Given the description of an element on the screen output the (x, y) to click on. 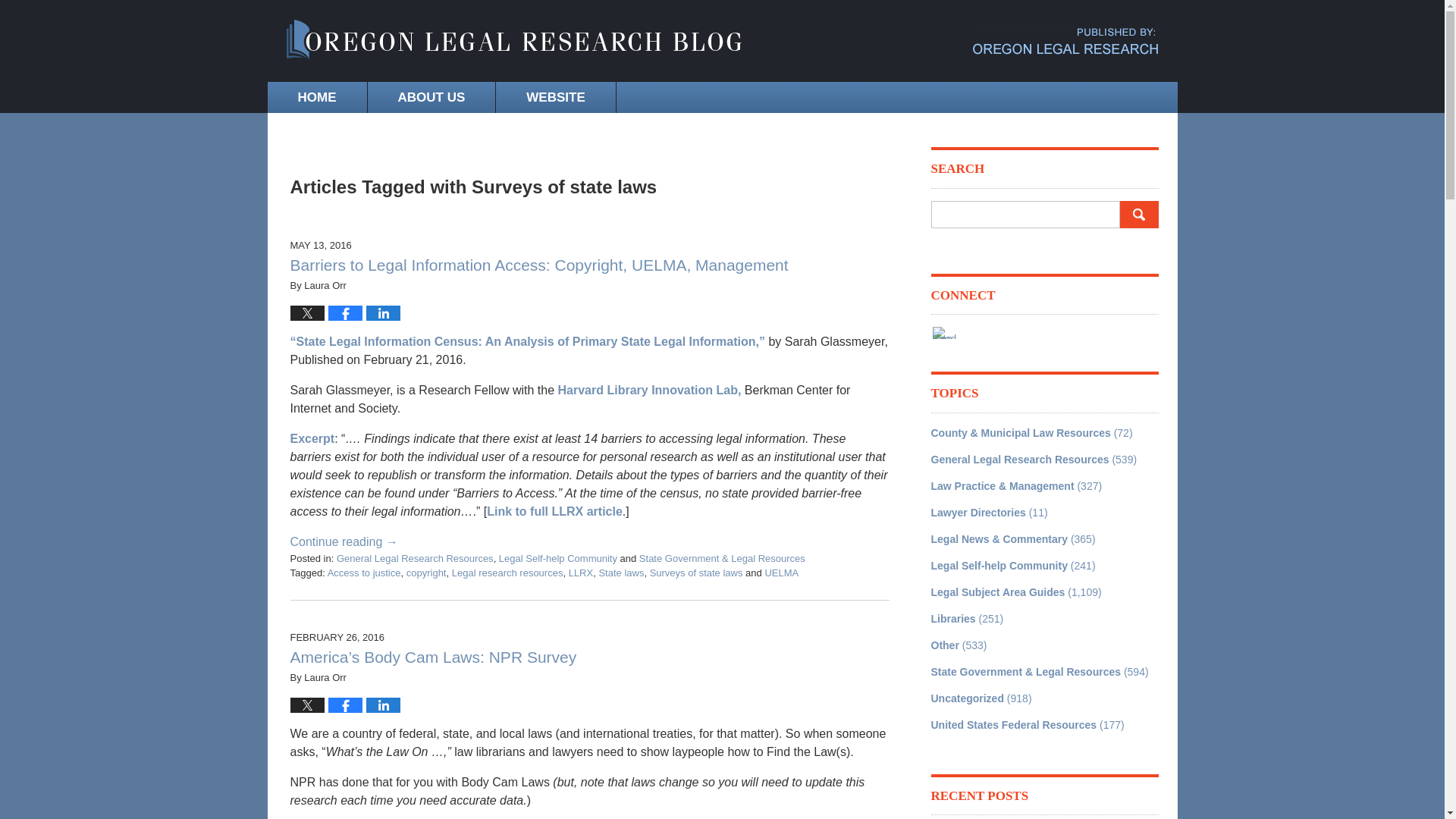
Legal research resources (507, 572)
ABOUT US (430, 97)
Excerpt (311, 438)
Surveys of state laws (695, 572)
State laws (620, 572)
View all posts in Legal Self-help Community (558, 558)
View all posts tagged with Access to justice (364, 572)
UELMA (780, 572)
Published By Oregon Legal Research (1064, 40)
